Given the description of an element on the screen output the (x, y) to click on. 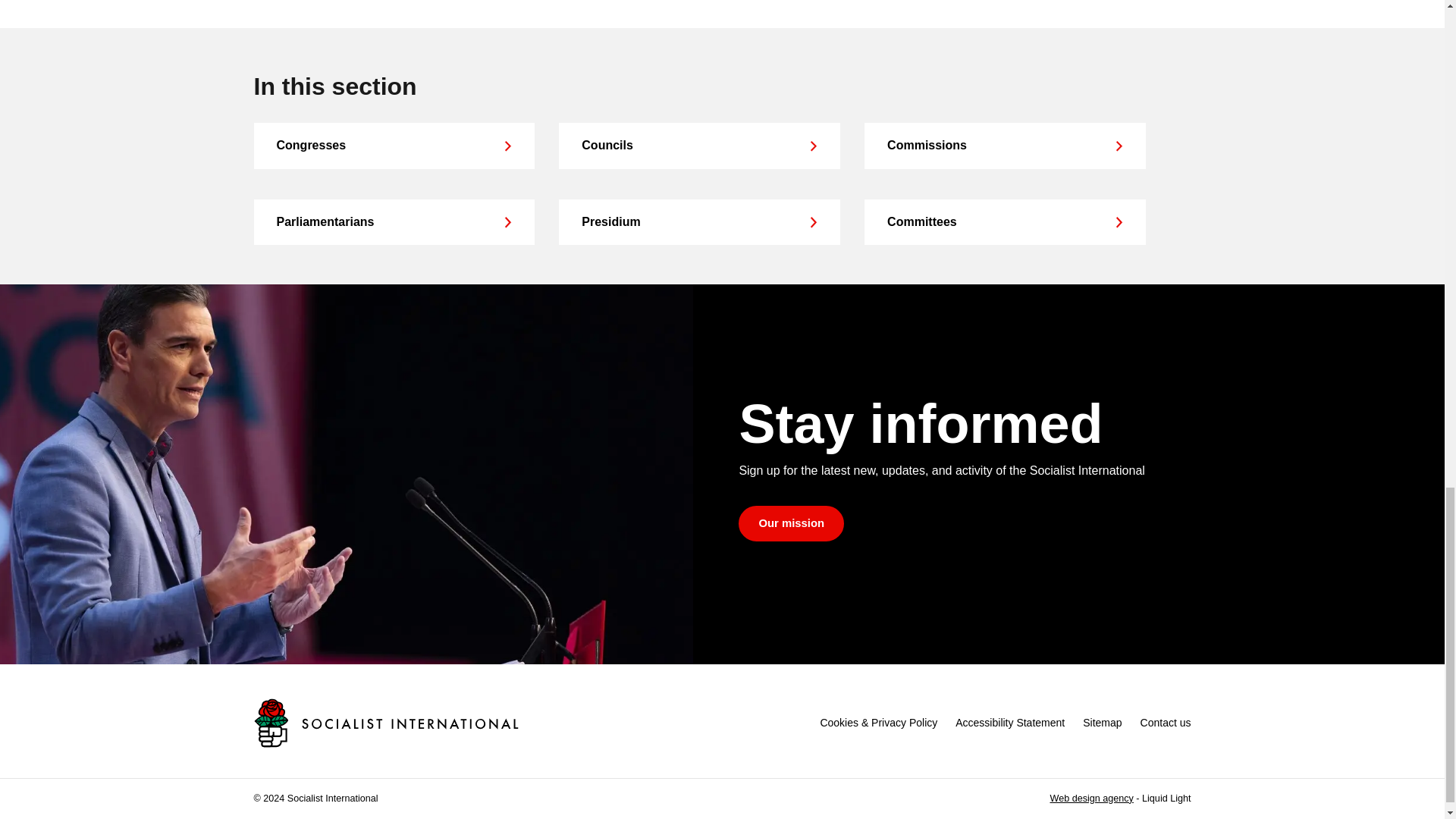
Councils (698, 146)
Parliamentarians (394, 222)
Congresses (394, 146)
Commissions (1004, 146)
Councils (698, 146)
Congresses (394, 146)
